Given the description of an element on the screen output the (x, y) to click on. 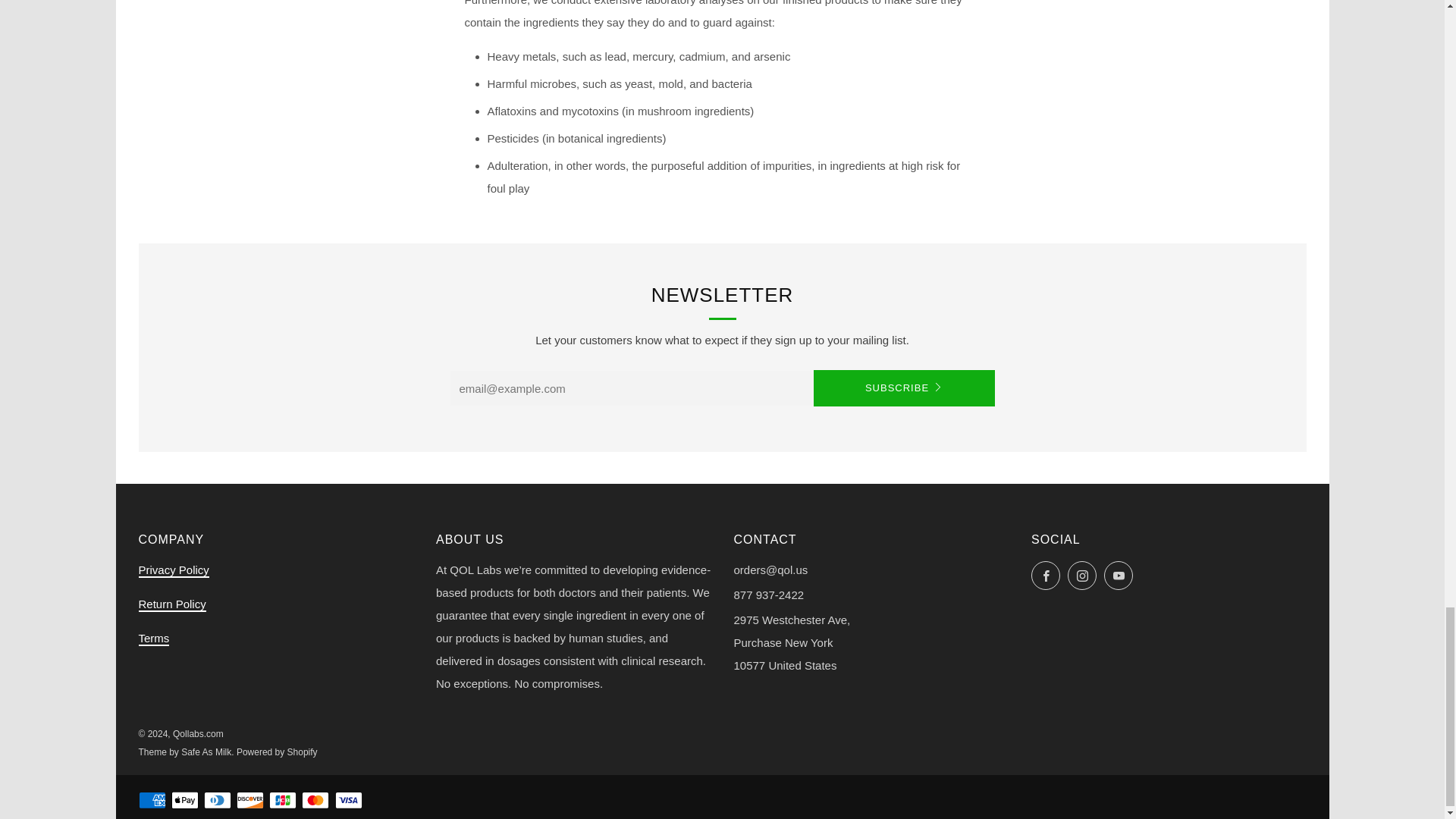
Privacy Policy (173, 570)
Terms (153, 638)
Return (171, 604)
